Given the description of an element on the screen output the (x, y) to click on. 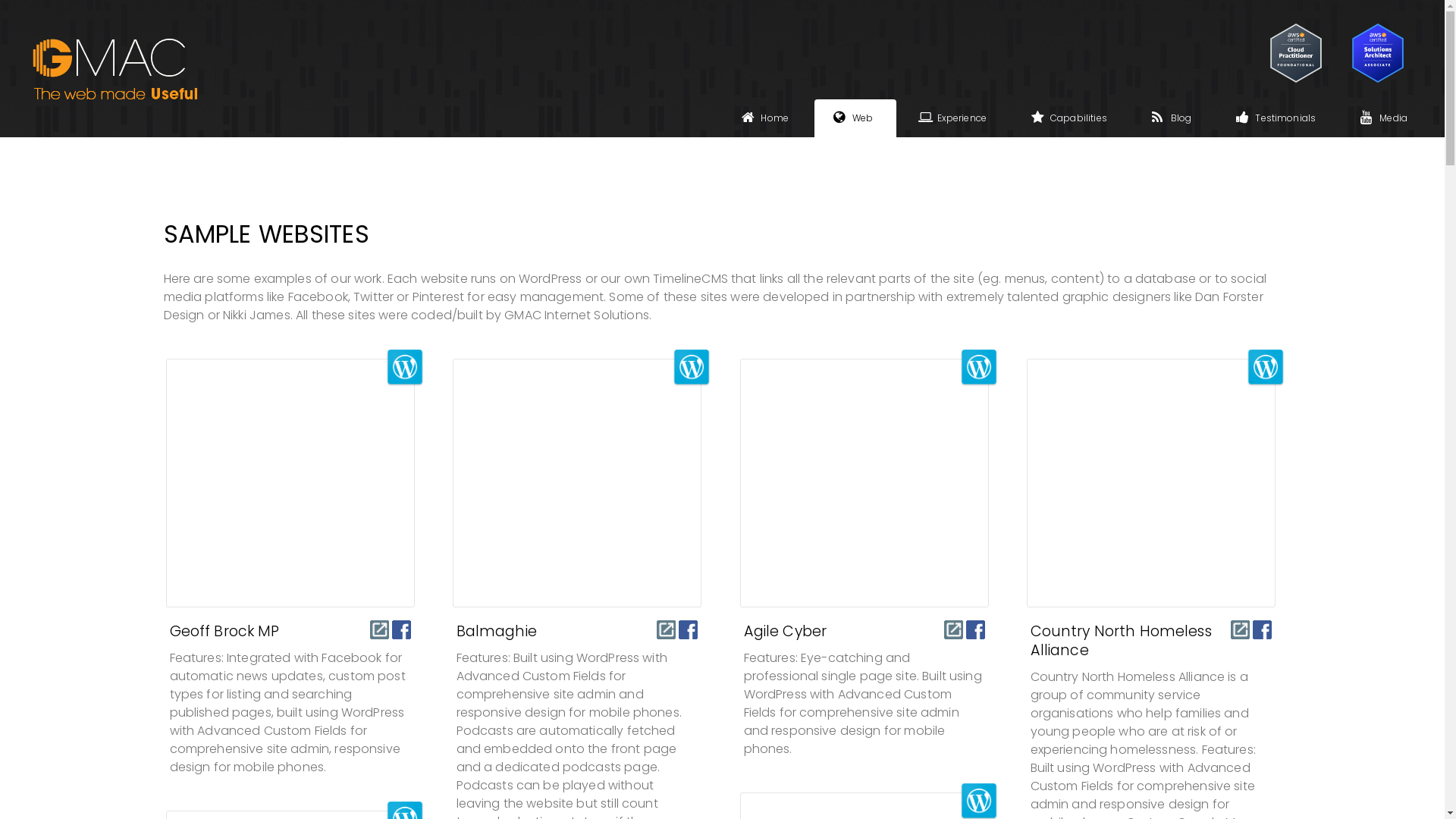
Testimonials Element type: text (1277, 118)
Capabilities Element type: text (1070, 118)
Web Element type: text (854, 118)
Experience Element type: text (954, 118)
Home Element type: text (766, 118)
Blog Element type: text (1173, 118)
Media Element type: text (1385, 118)
